Given the description of an element on the screen output the (x, y) to click on. 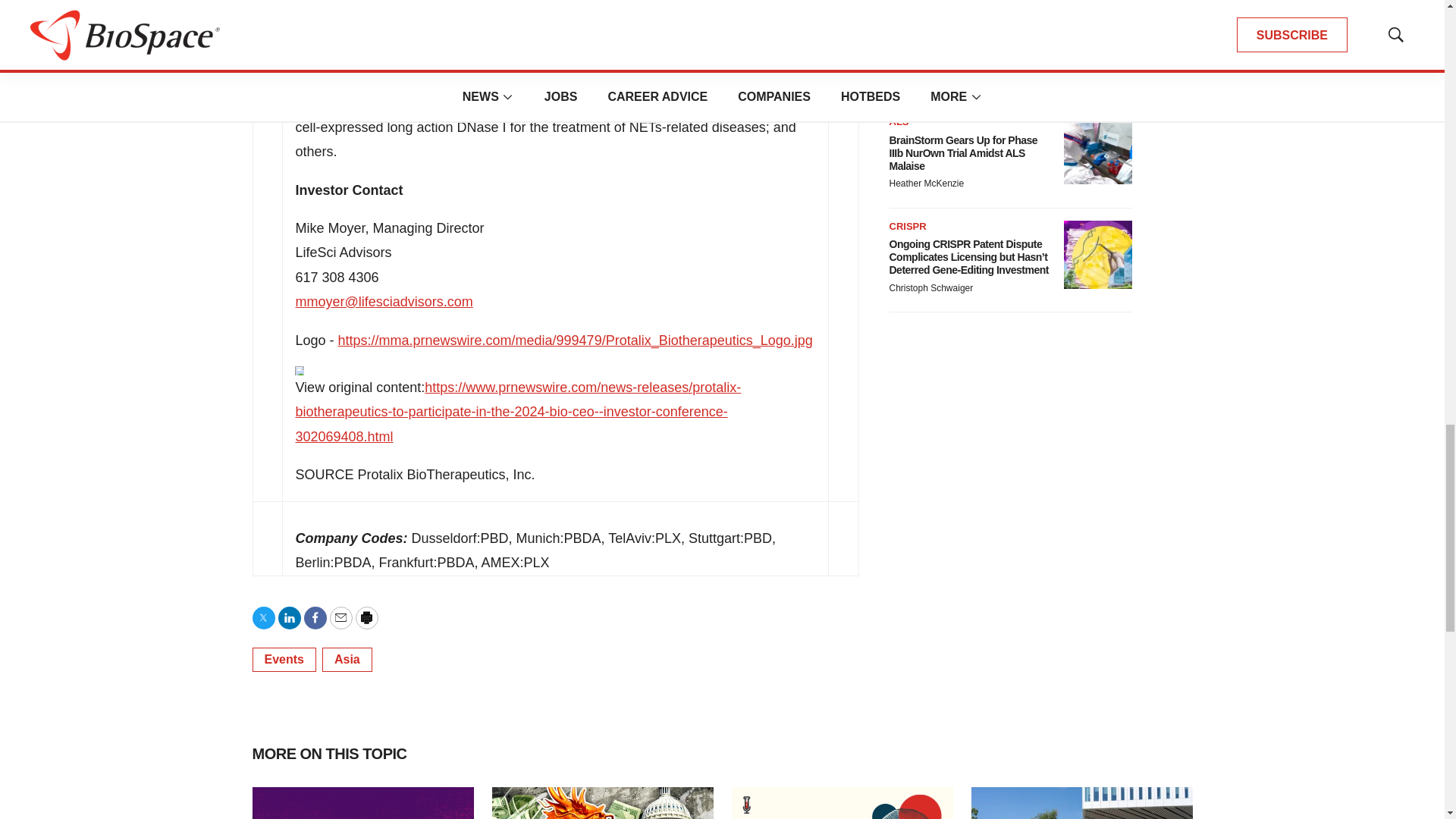
Cision (299, 370)
